Given the description of an element on the screen output the (x, y) to click on. 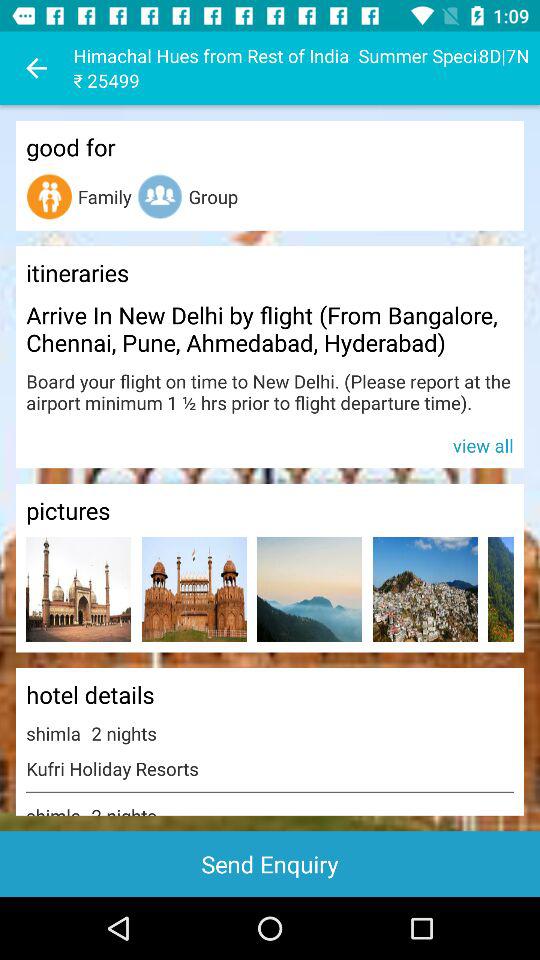
choose view all item (269, 443)
